Given the description of an element on the screen output the (x, y) to click on. 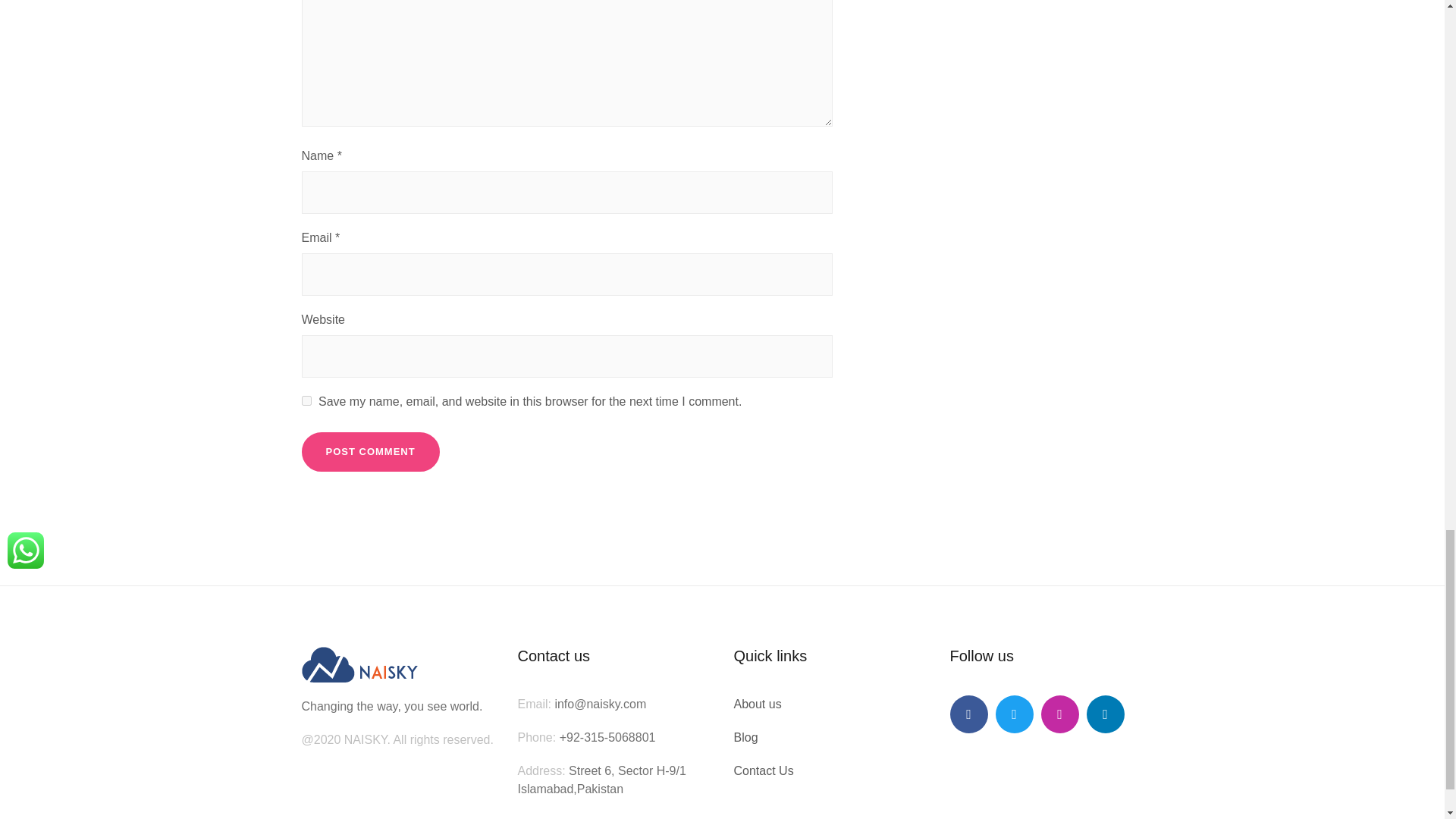
Post Comment (370, 451)
Post Comment (370, 451)
Blog (745, 737)
Contact Us (763, 770)
About us (757, 703)
yes (306, 400)
